Given the description of an element on the screen output the (x, y) to click on. 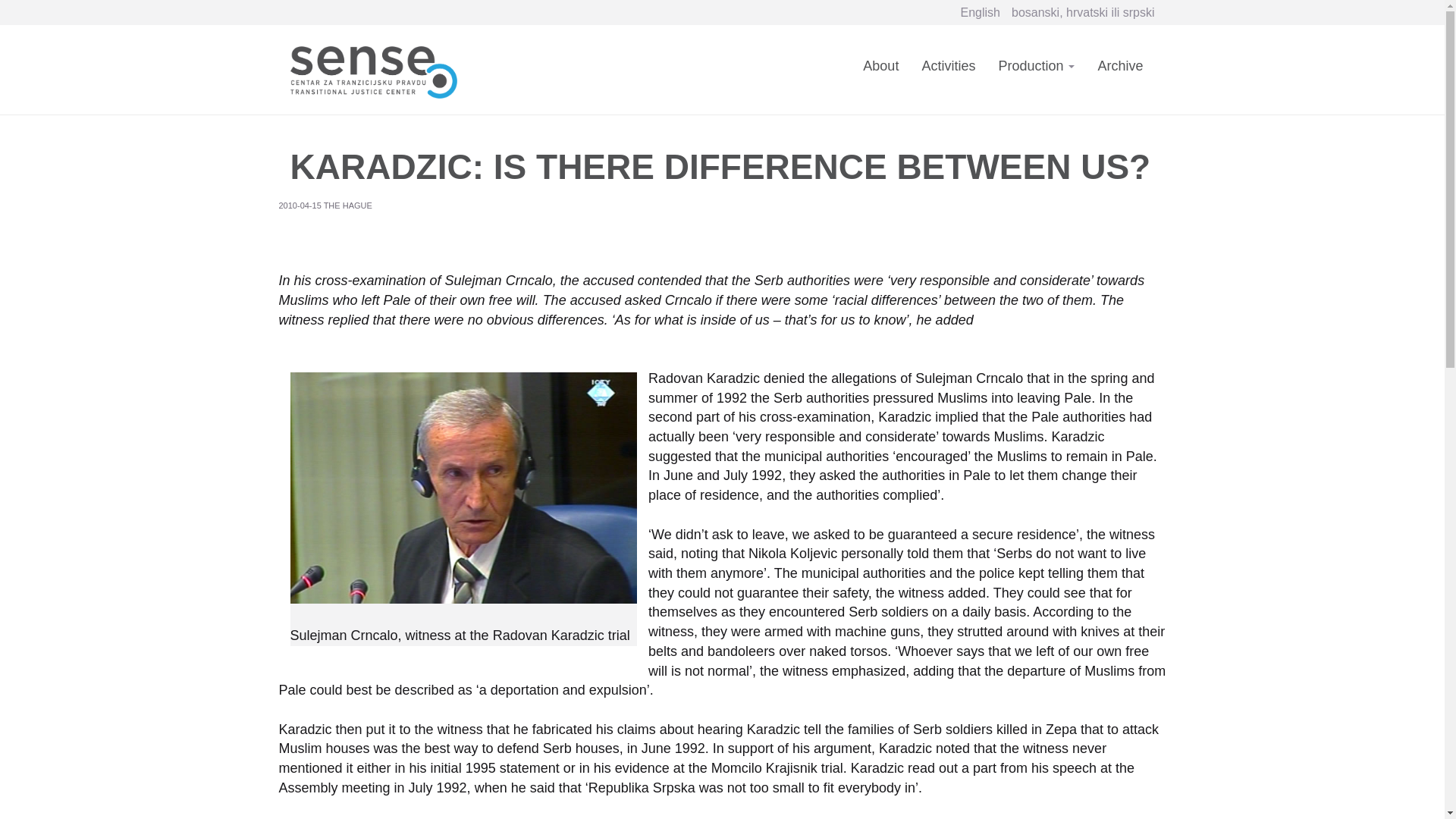
bosanski, hrvatski ili srpski (1082, 11)
Production (1036, 75)
English (980, 11)
Sulejman Crncalo, witness at the Radovan Karadzic trial (463, 487)
Activities (948, 75)
Home (378, 69)
